Given the description of an element on the screen output the (x, y) to click on. 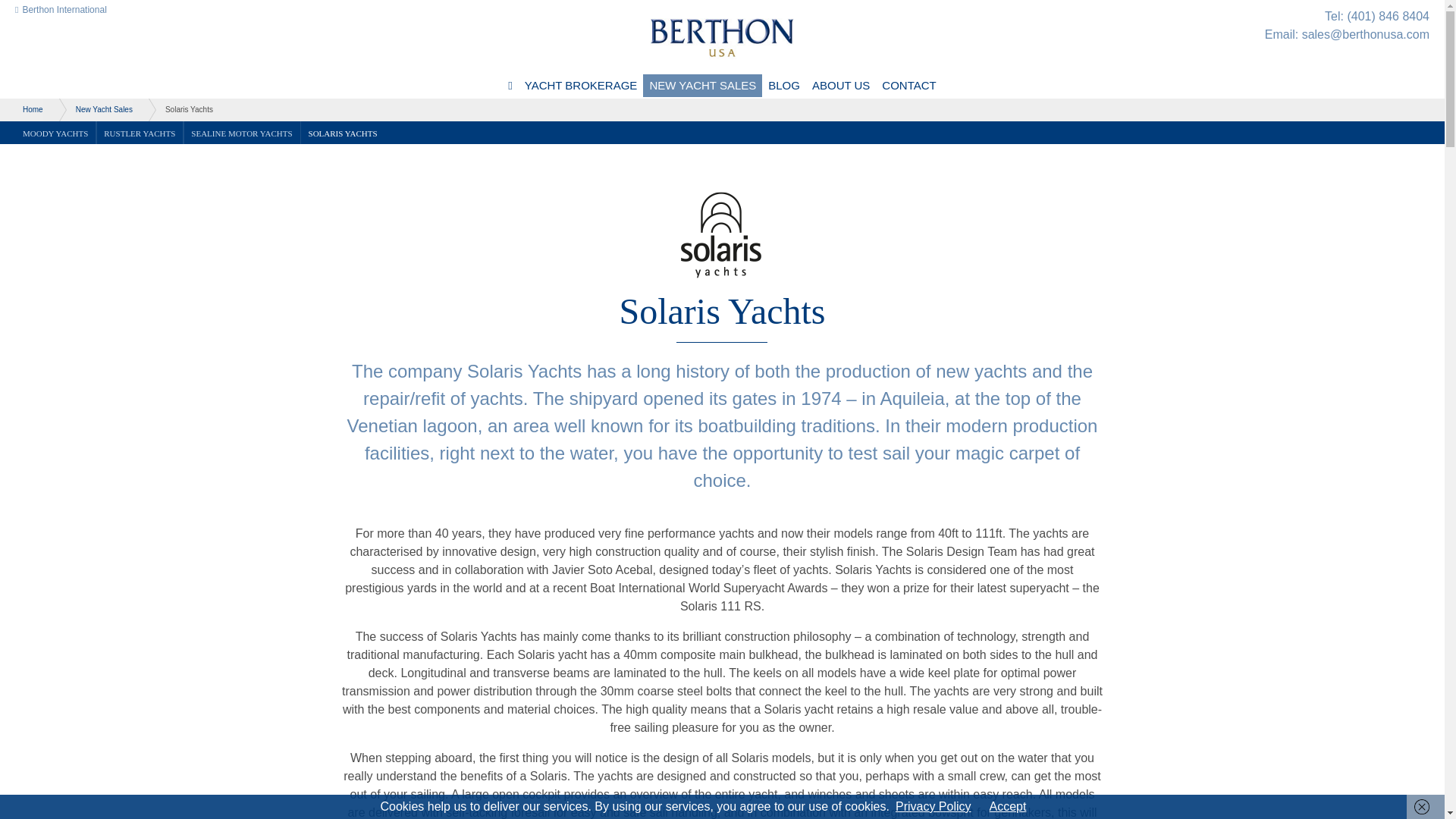
Berthon USA Logo (721, 35)
New Yacht Sales (96, 109)
RUSTLER YACHTS (139, 132)
SOLARIS YACHTS (343, 132)
CONTACT (909, 85)
BLOG (783, 85)
Berthon International (60, 9)
Home (25, 109)
NEW YACHT SALES (702, 85)
YACHT BROKERAGE (580, 85)
ABOUT US (841, 85)
MOODY YACHTS (55, 132)
SEALINE MOTOR YACHTS (241, 132)
